Given the description of an element on the screen output the (x, y) to click on. 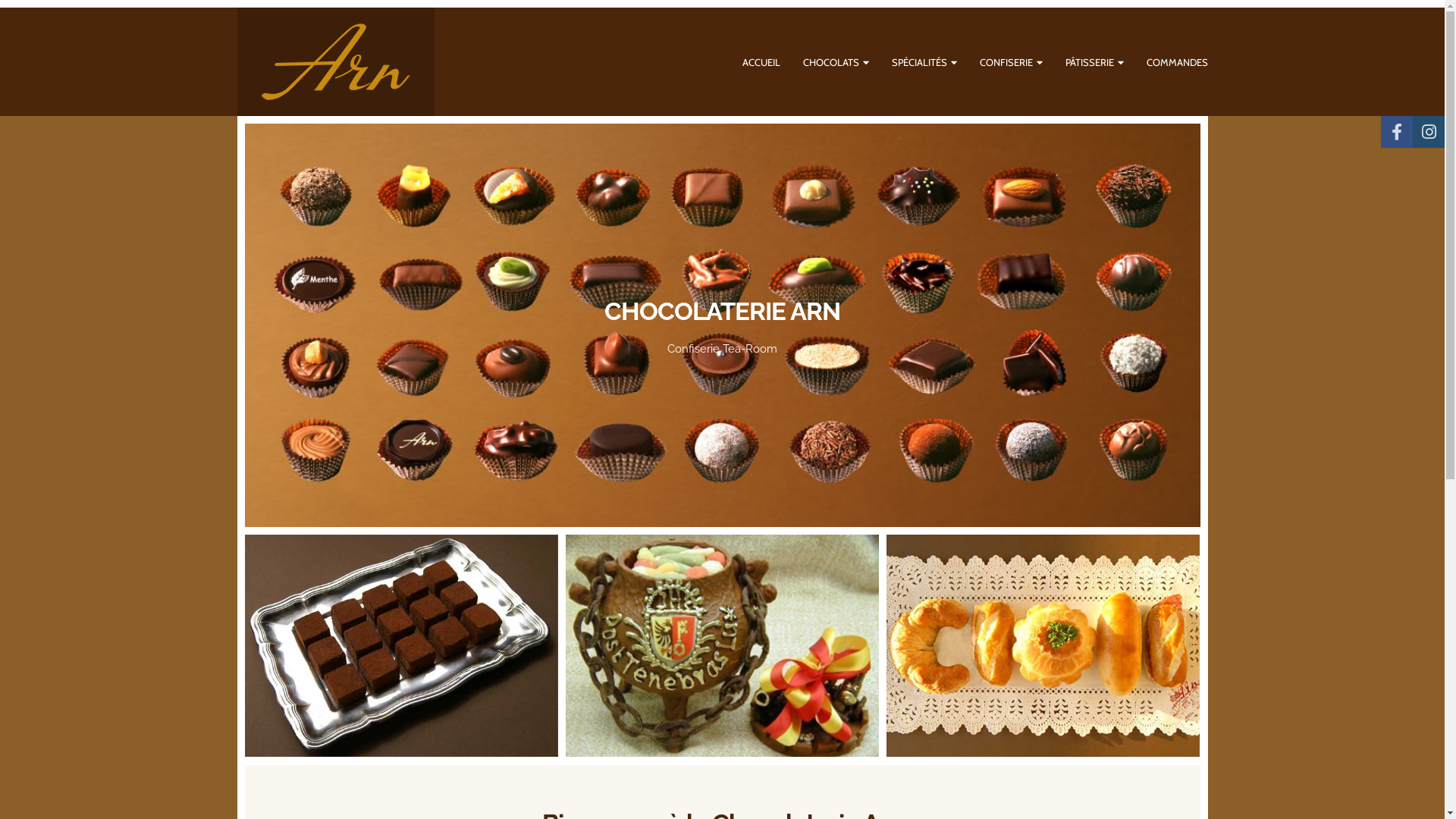
CHOCOLATS Element type: text (835, 61)
Facebook Element type: text (1396, 131)
CONFISERIE Element type: text (1010, 61)
COMMANDES Element type: text (1177, 60)
ACCUEIL Element type: text (760, 60)
Instagram Element type: text (1428, 131)
